Given the description of an element on the screen output the (x, y) to click on. 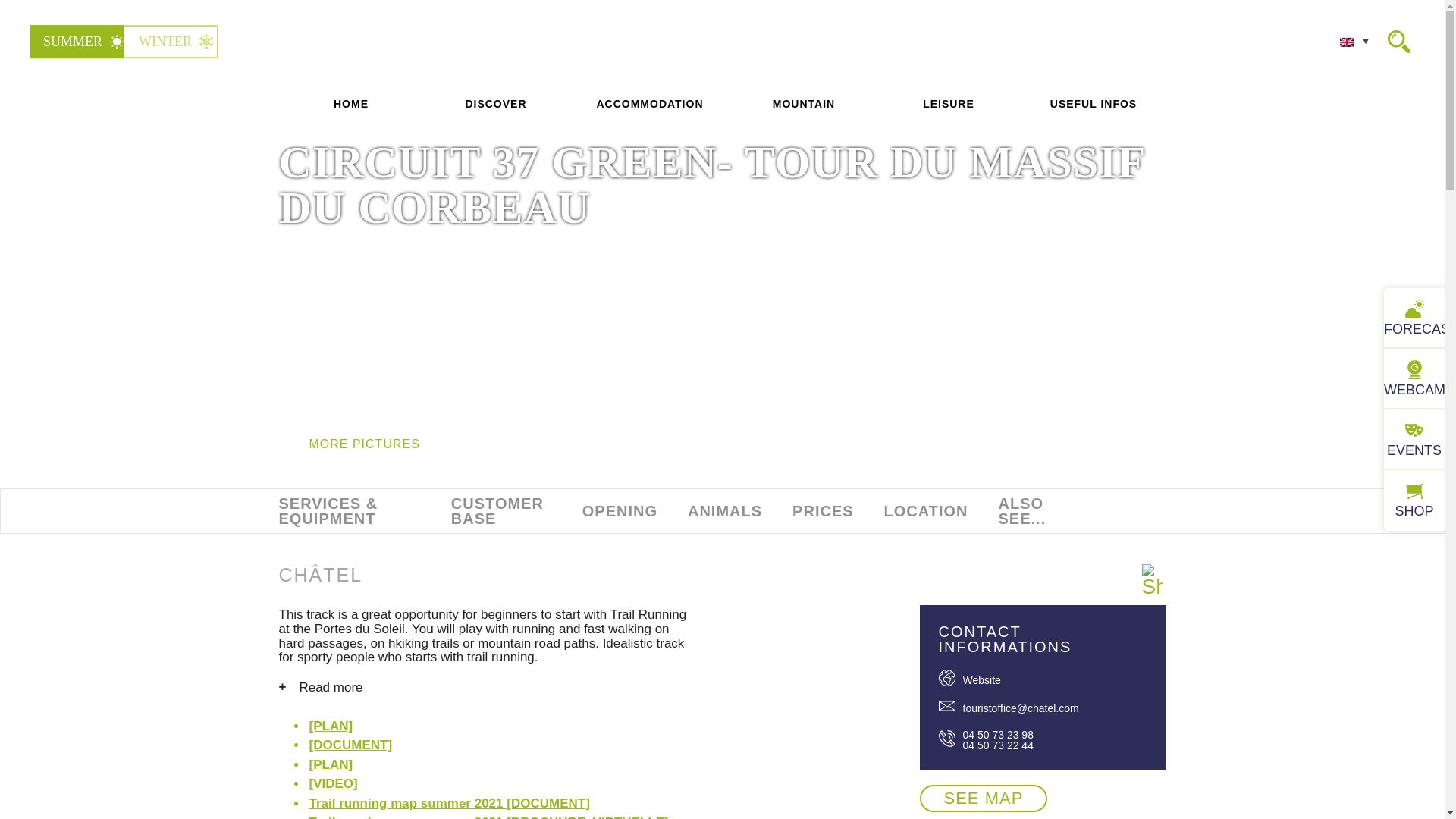
LEISURE (949, 103)
USEFUL INFOS (1093, 103)
SUMMER (80, 41)
HOME (351, 103)
WINTER (172, 41)
ACCOMMODATION (648, 103)
MOUNTAIN (804, 103)
DISCOVER (495, 103)
